Given the description of an element on the screen output the (x, y) to click on. 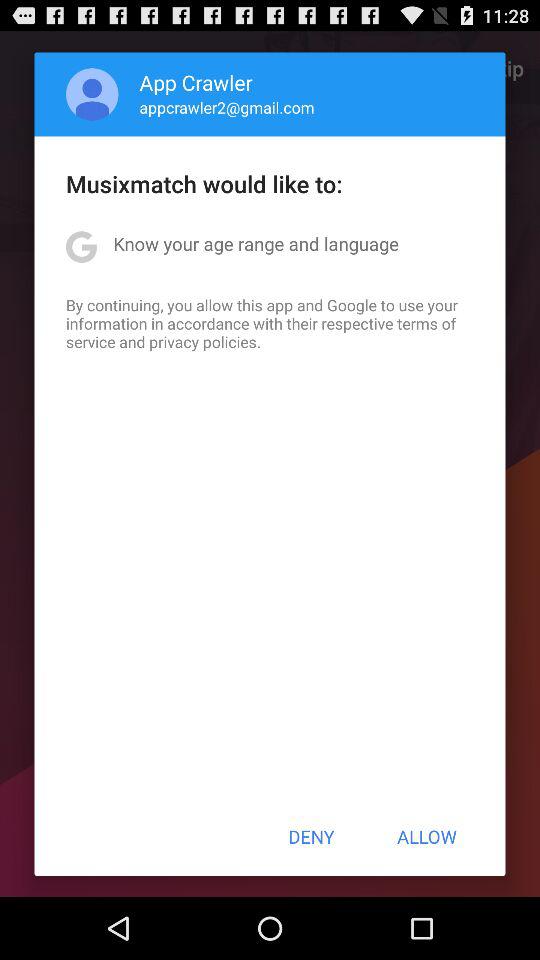
press icon below app crawler icon (226, 107)
